Given the description of an element on the screen output the (x, y) to click on. 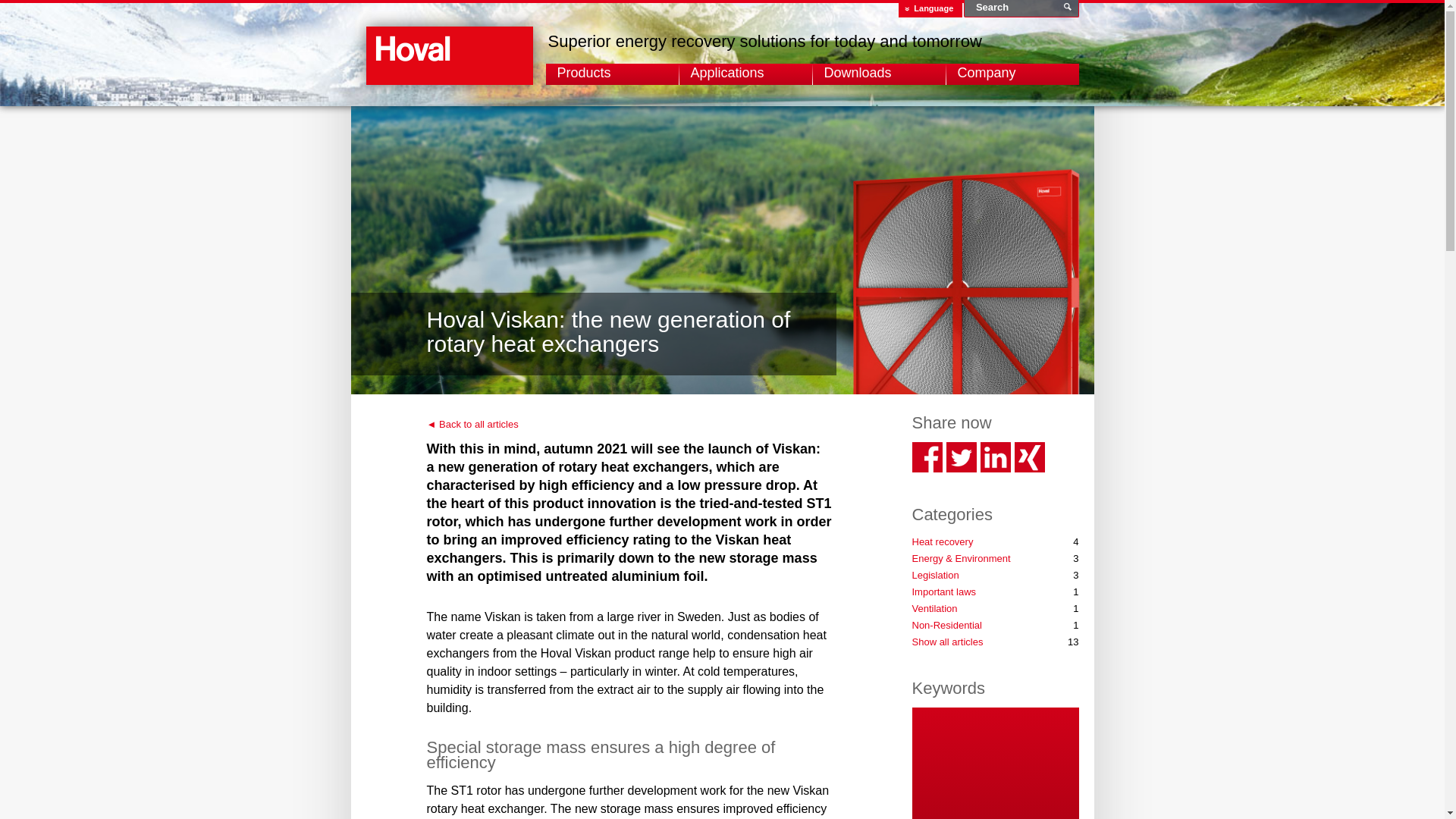
Downloads (882, 72)
Applications (749, 72)
Language (933, 8)
Hoval (448, 73)
Search (1020, 8)
Heat recovery (941, 541)
Products (615, 72)
Company (1015, 72)
